Given the description of an element on the screen output the (x, y) to click on. 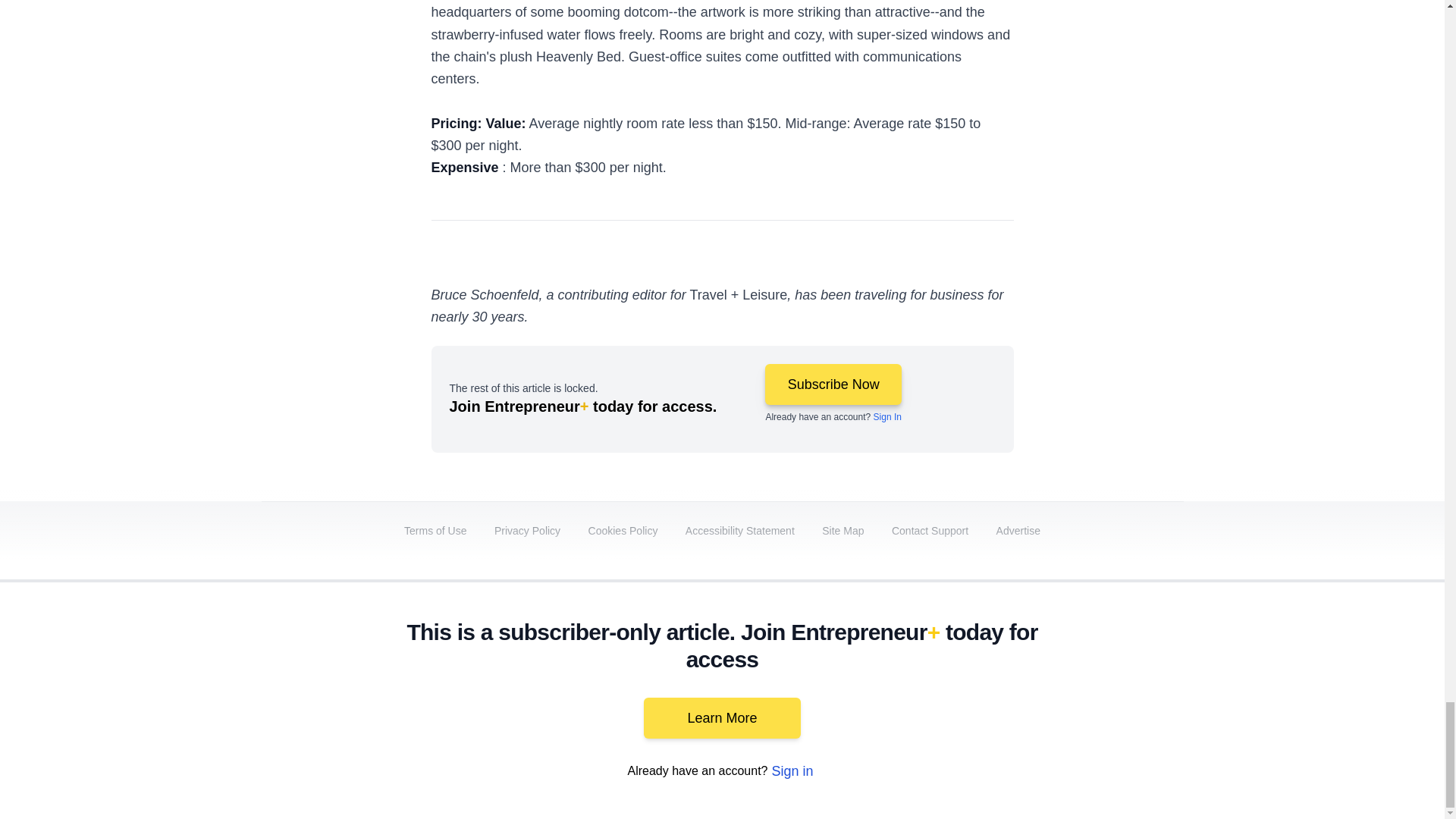
facebook (866, 691)
rss (1164, 691)
snapchat (1121, 691)
linkedin (952, 691)
instagram (1037, 691)
youtube (994, 691)
twitter (909, 691)
tiktok (1079, 691)
